Given the description of an element on the screen output the (x, y) to click on. 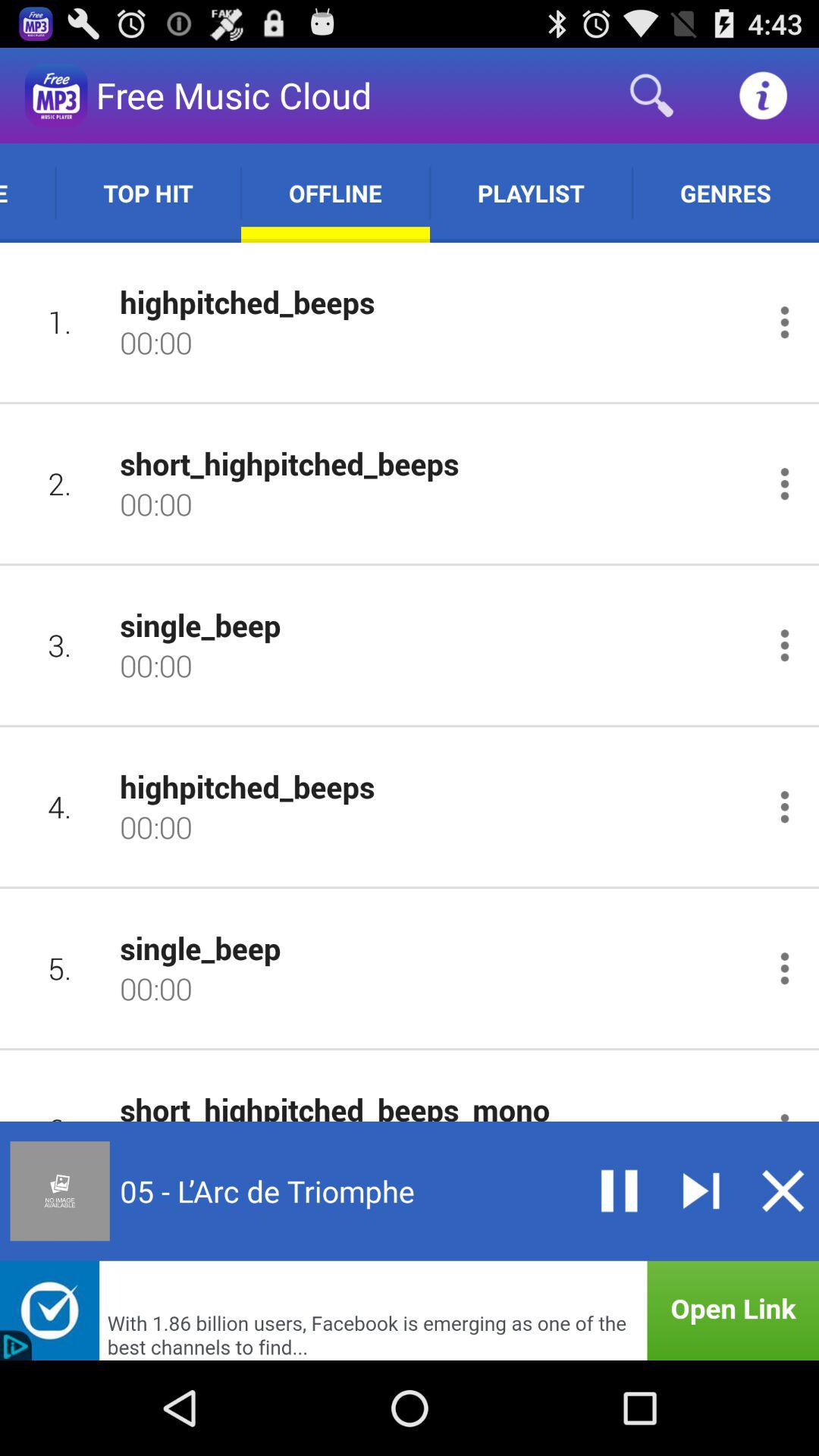
open options (784, 645)
